Given the description of an element on the screen output the (x, y) to click on. 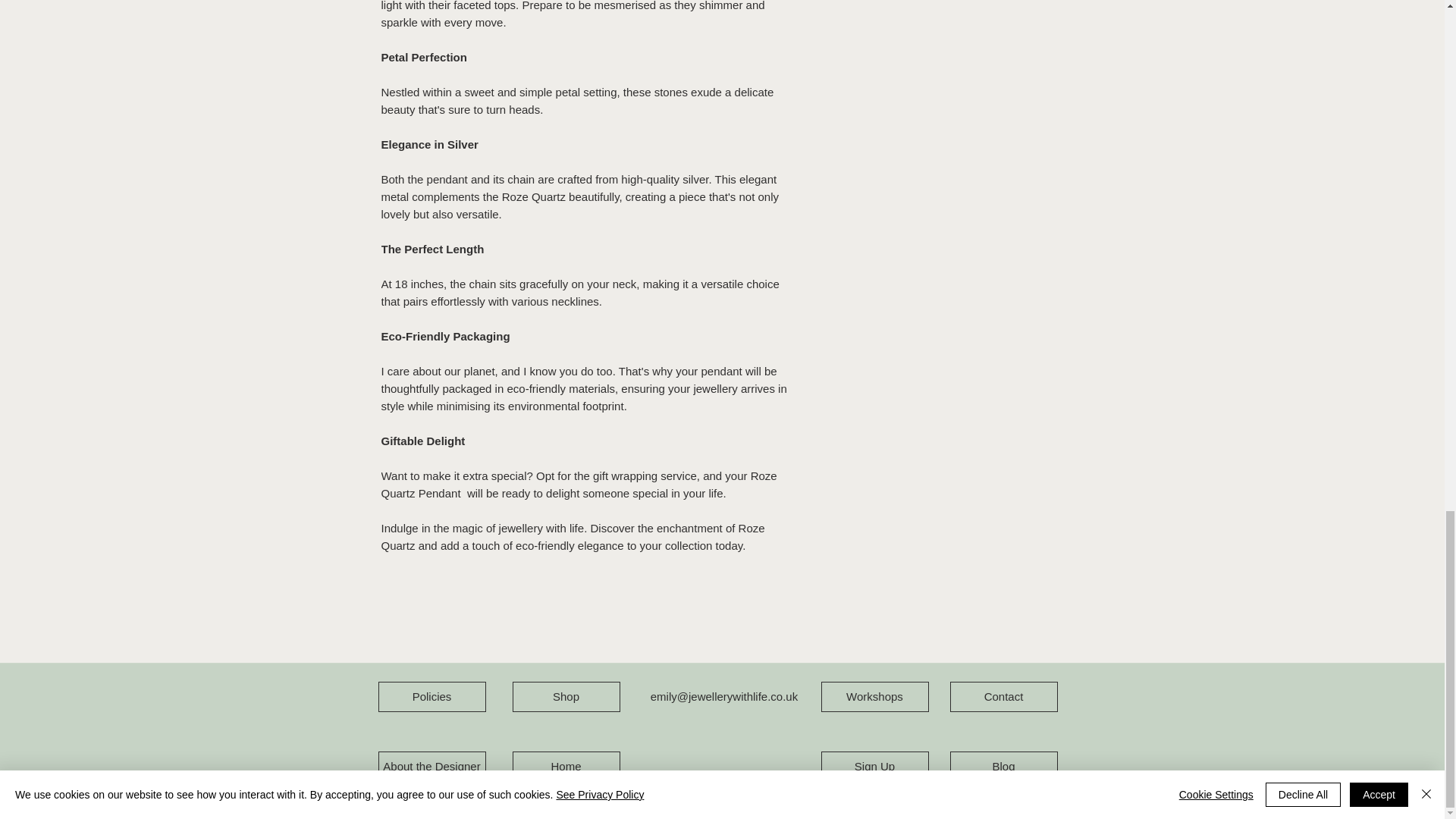
Blog (1003, 766)
Home (566, 766)
Policies (430, 696)
About the Designer (430, 766)
Contact (1003, 696)
Workshops (874, 696)
Shop (566, 696)
Sign Up (874, 766)
